Given the description of an element on the screen output the (x, y) to click on. 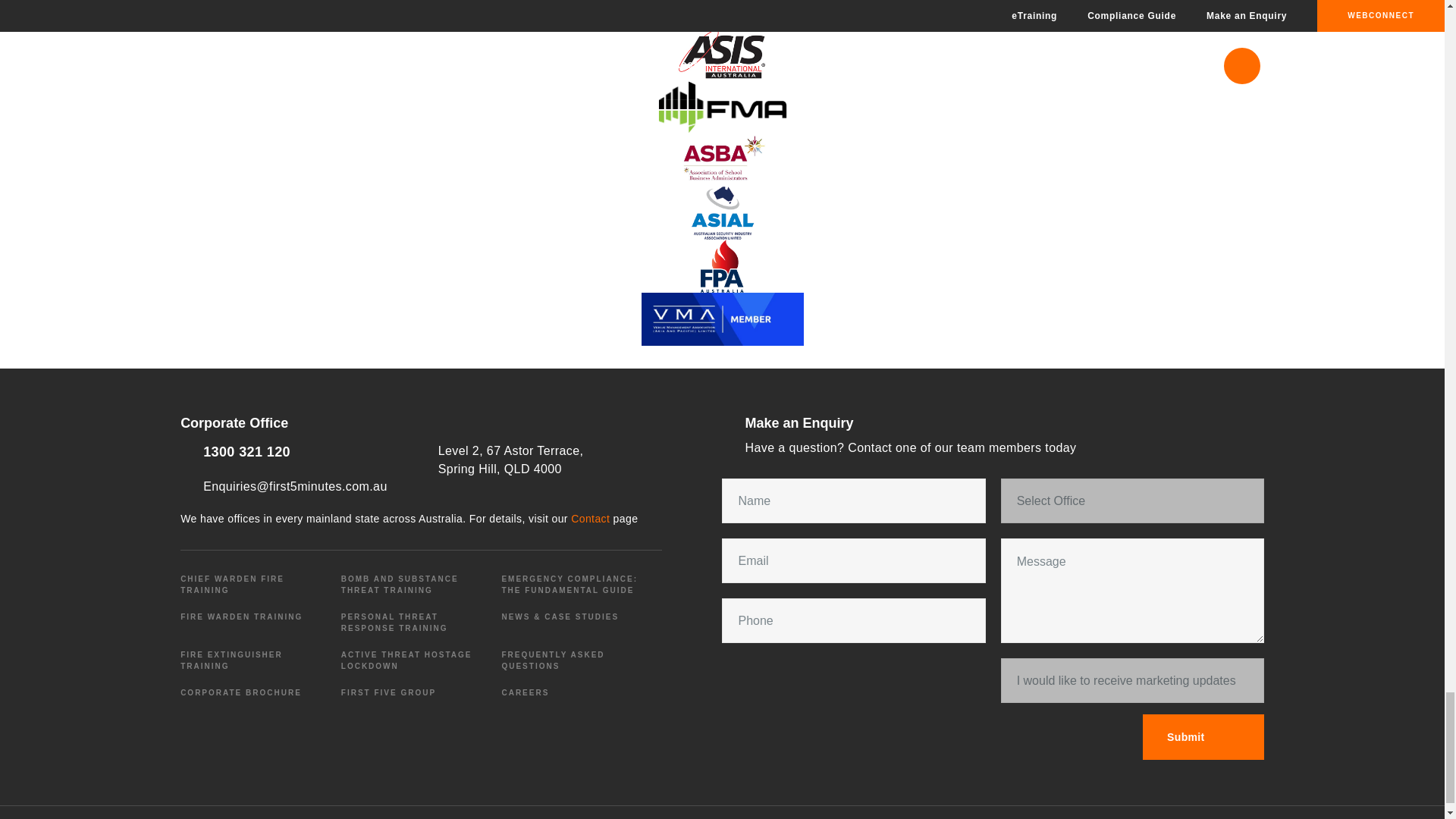
ASIS Logo (722, 53)
ASBA Logo (722, 159)
How to Develop Your Emergency Evacuation Plan (722, 212)
FMA full logo (722, 106)
